Given the description of an element on the screen output the (x, y) to click on. 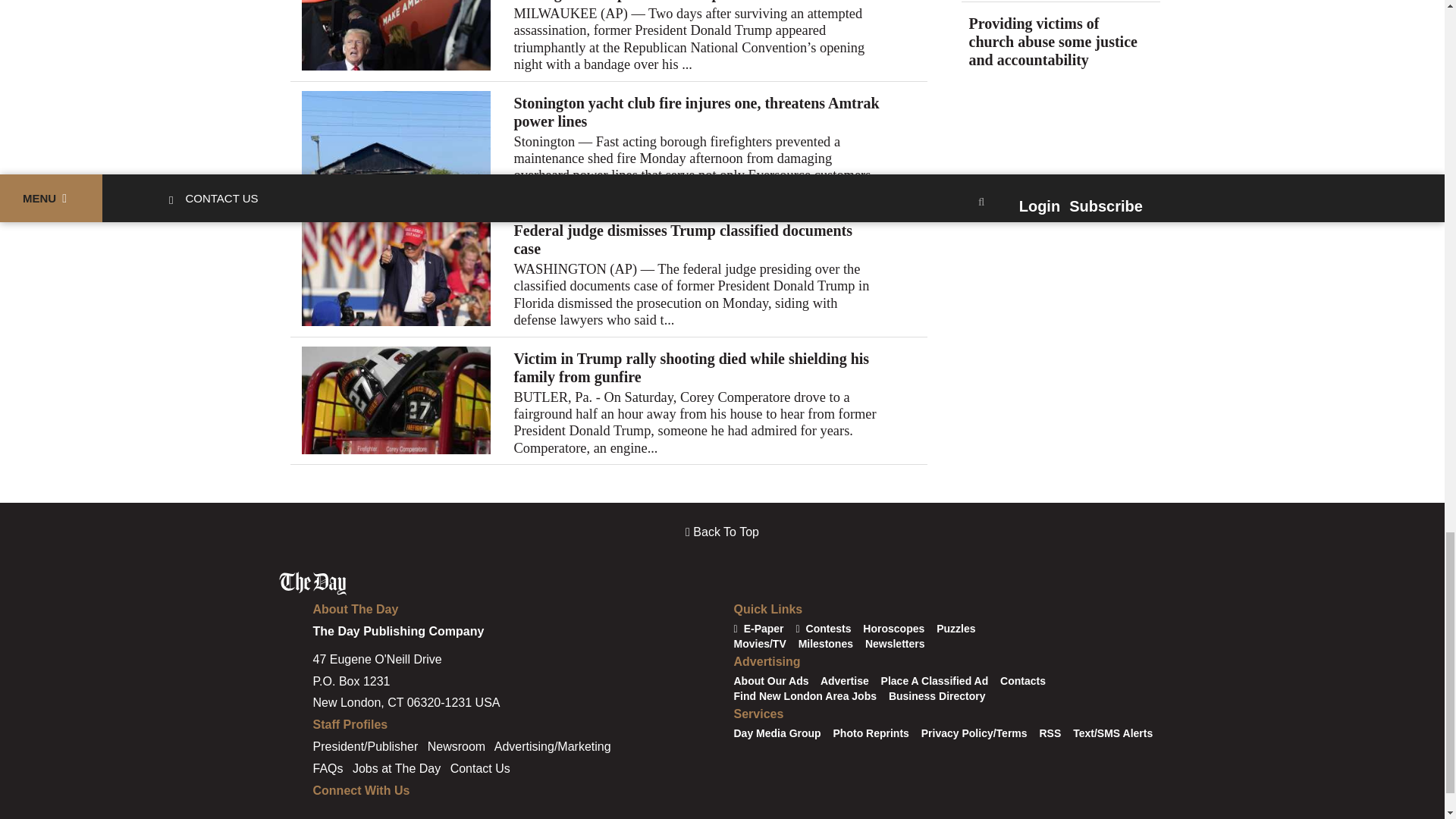
About the Day (355, 608)
